Given the description of an element on the screen output the (x, y) to click on. 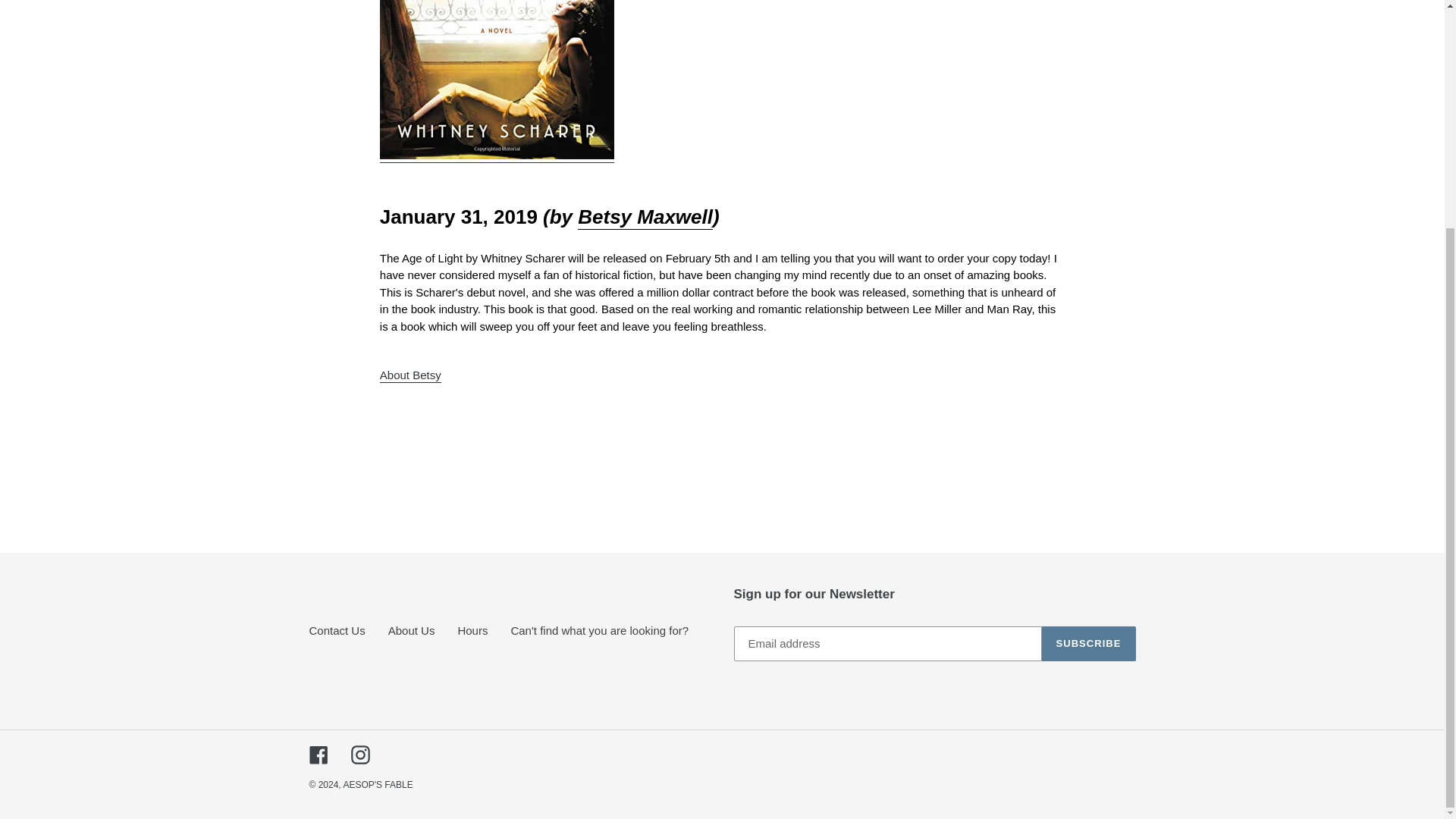
About Betsy (410, 375)
About Betsy (645, 217)
